Given the description of an element on the screen output the (x, y) to click on. 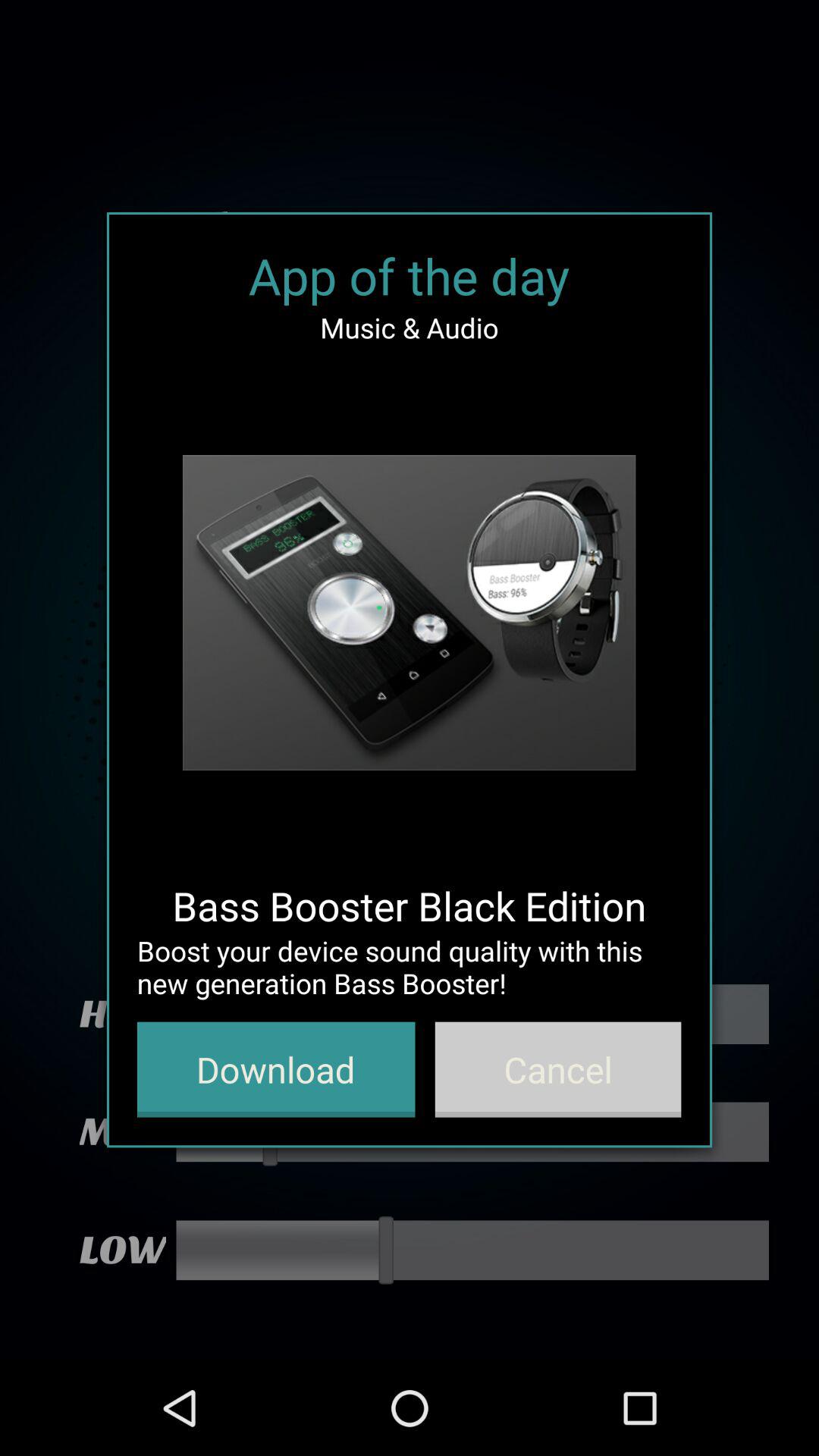
press the icon to the right of the download item (558, 1069)
